Given the description of an element on the screen output the (x, y) to click on. 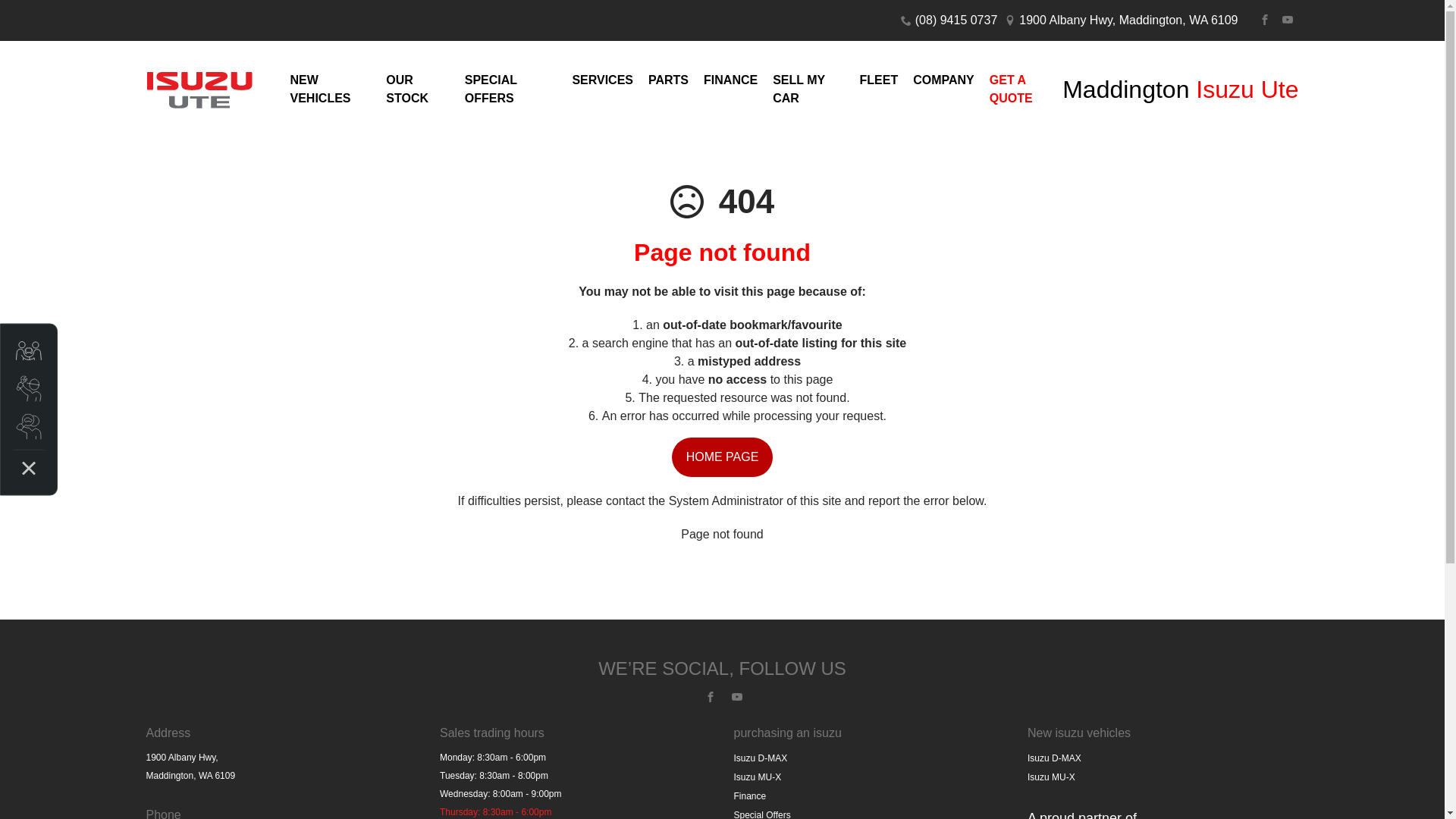
(08) 9415 0737 Element type: text (956, 20)
Isuzu D-MAX Element type: text (760, 758)
GET A QUOTE Element type: text (1022, 89)
Finance Element type: text (750, 795)
SPECIAL OFFERS Element type: text (510, 89)
FLEET Element type: text (879, 79)
SELL MY CAR Element type: text (808, 89)
Isuzu MU-X Element type: text (757, 776)
SERVICES Element type: text (602, 79)
1900 Albany Hwy, Maddington, WA 6109 Element type: text (1128, 20)
FINANCE Element type: text (730, 79)
HOME PAGE Element type: text (722, 456)
Isuzu D-MAX Element type: text (1054, 758)
COMPANY Element type: text (943, 79)
PARTS Element type: text (668, 79)
OUR STOCK Element type: text (417, 89)
Isuzu MU-X Element type: text (1051, 776)
1900 Albany Hwy,
Maddington, WA 6109 Element type: text (190, 766)
NEW VEHICLES Element type: text (330, 89)
